Given the description of an element on the screen output the (x, y) to click on. 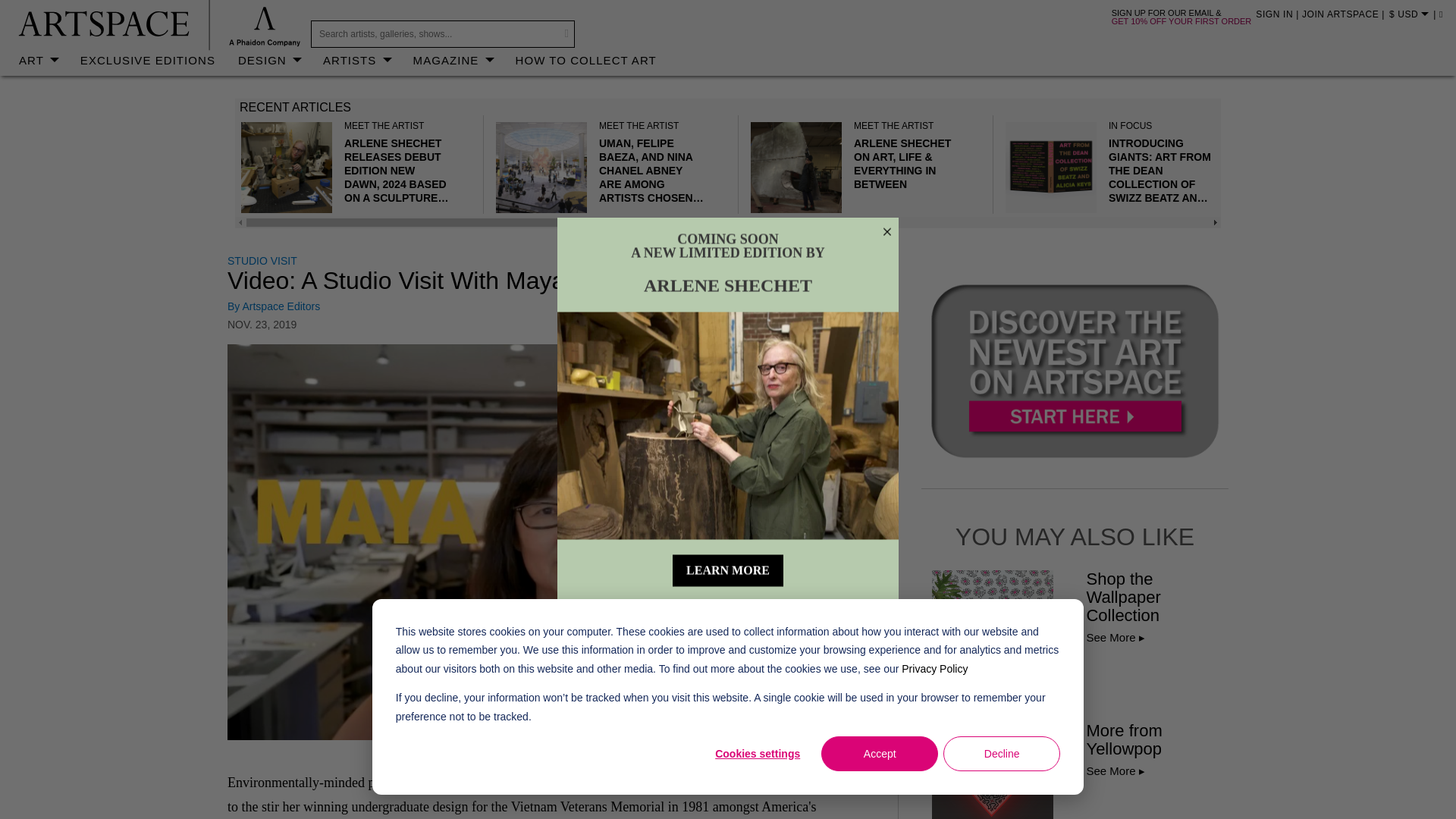
ART (37, 54)
Select Currency (1414, 16)
